Given the description of an element on the screen output the (x, y) to click on. 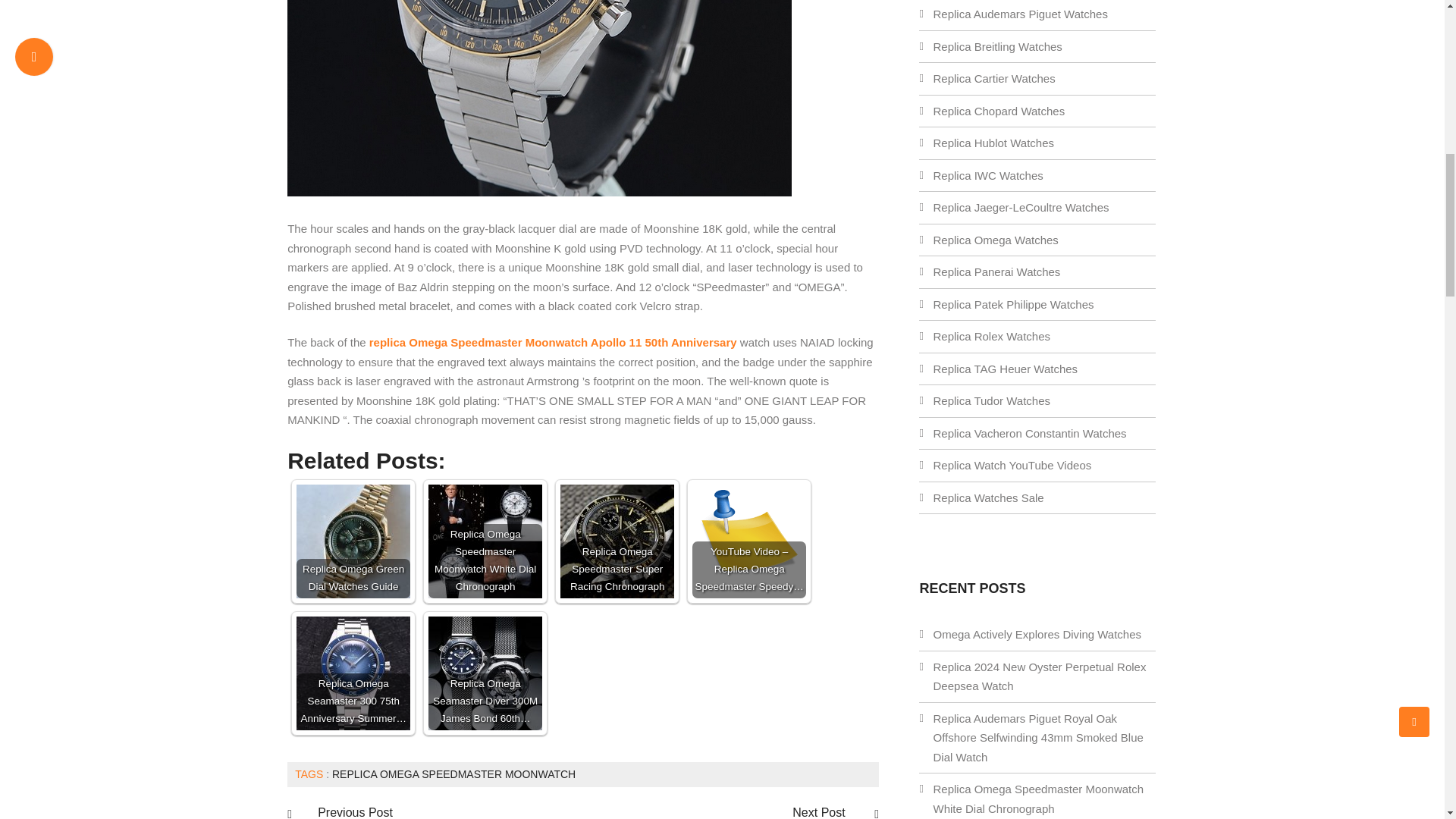
Replica Omega Green Dial Watches Guide (353, 541)
REPLICA OMEGA SPEEDMASTER MOONWATCH (453, 774)
Replica Omega Speedmaster Moonwatch White Dial Chronograph (484, 541)
Replica Omega Green Dial Watches Guide (353, 541)
Replica Omega Speedmaster Super Racing Chronograph (617, 541)
Next Post  (820, 810)
Previous Post (354, 810)
Replica Omega Speedmaster Moonwatch White Dial Chronograph (484, 541)
Replica Omega Speedmaster Super Racing Chronograph (617, 541)
